Given the description of an element on the screen output the (x, y) to click on. 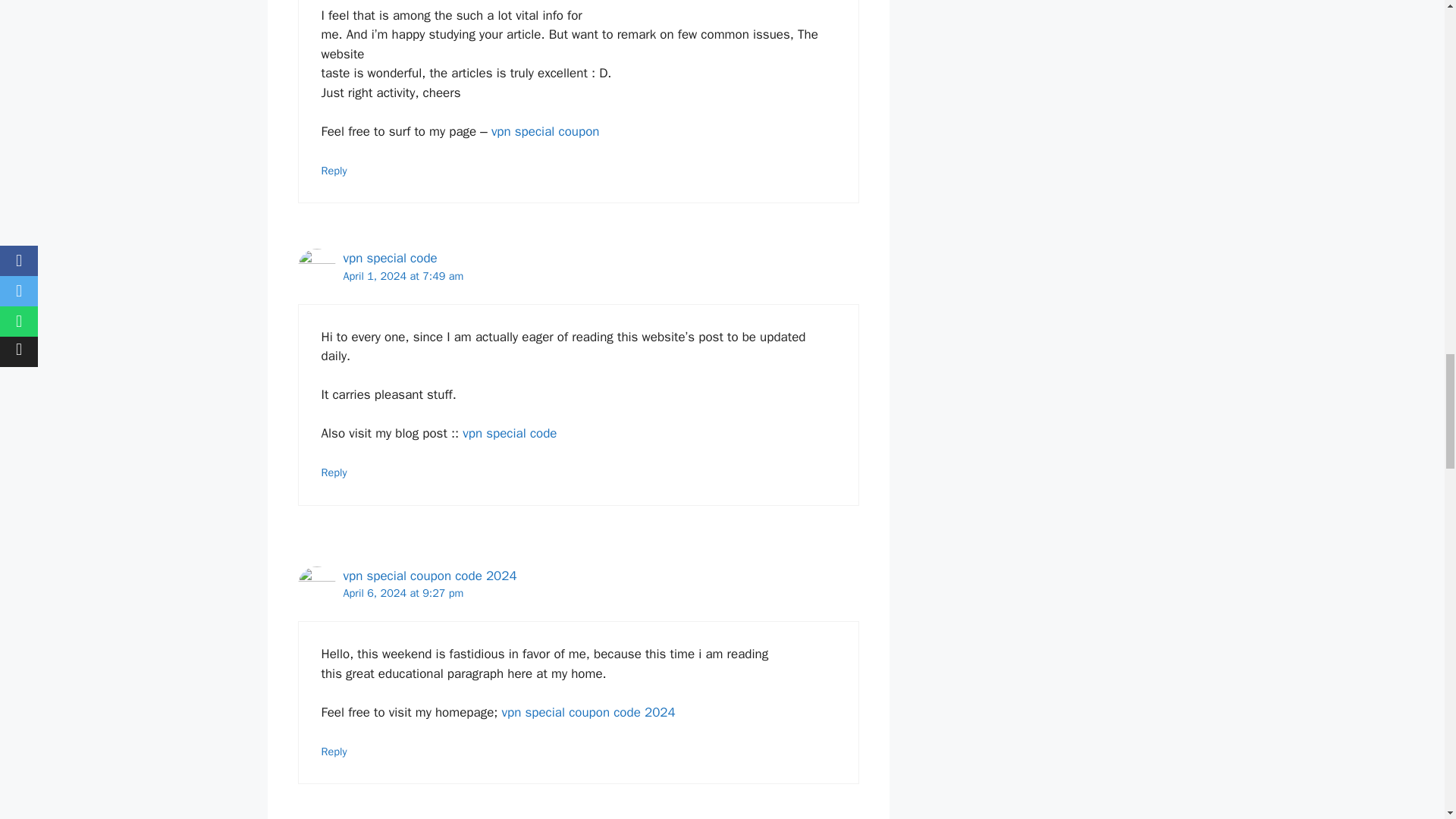
Reply (334, 170)
April 6, 2024 at 9:27 pm (402, 592)
vpn special coupon code 2024 (429, 575)
vpn special code (509, 433)
Reply (334, 751)
vpn special coupon code 2024 (588, 712)
vpn special code (389, 258)
April 1, 2024 at 7:49 am (402, 275)
Reply (334, 472)
vpn special coupon (545, 131)
